Given the description of an element on the screen output the (x, y) to click on. 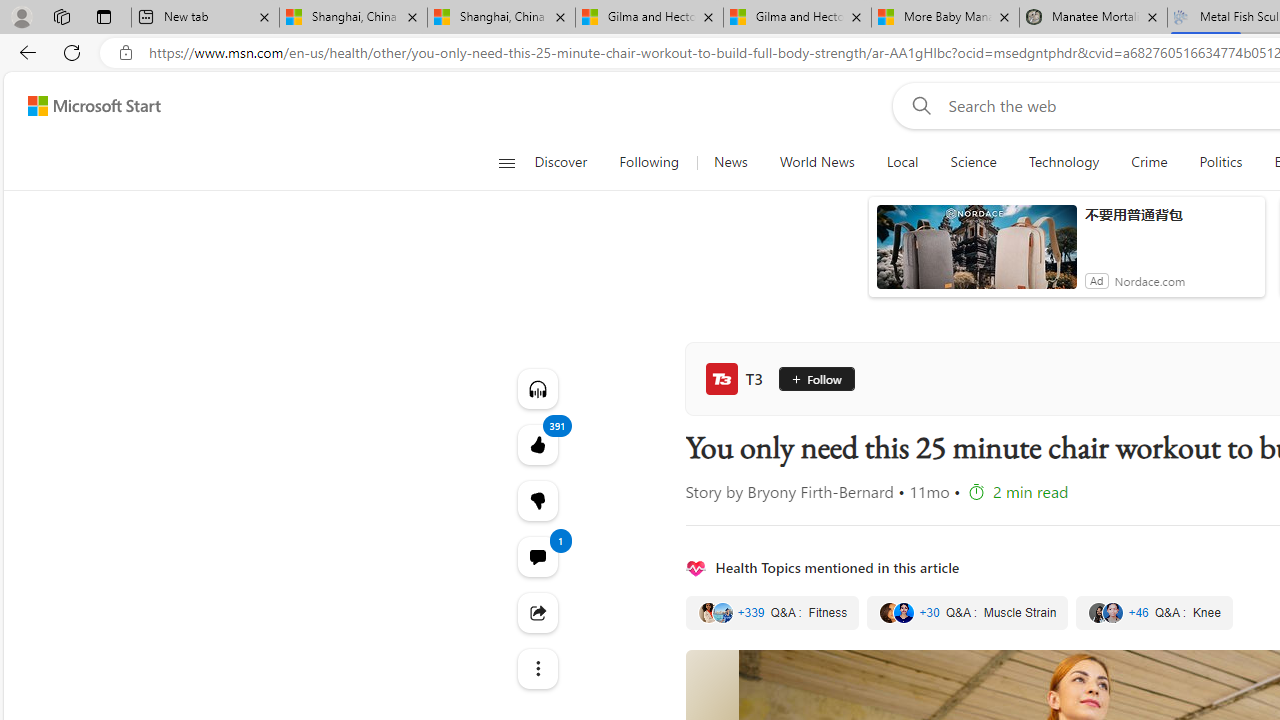
Politics (1220, 162)
World News (816, 162)
Technology (1063, 162)
News (729, 162)
T3 (738, 378)
391 Like (537, 444)
Knee (1154, 613)
anim-content (975, 255)
Crime (1149, 162)
More like this391Fewer like thisView comments (537, 500)
Listen to this article (537, 388)
